Given the description of an element on the screen output the (x, y) to click on. 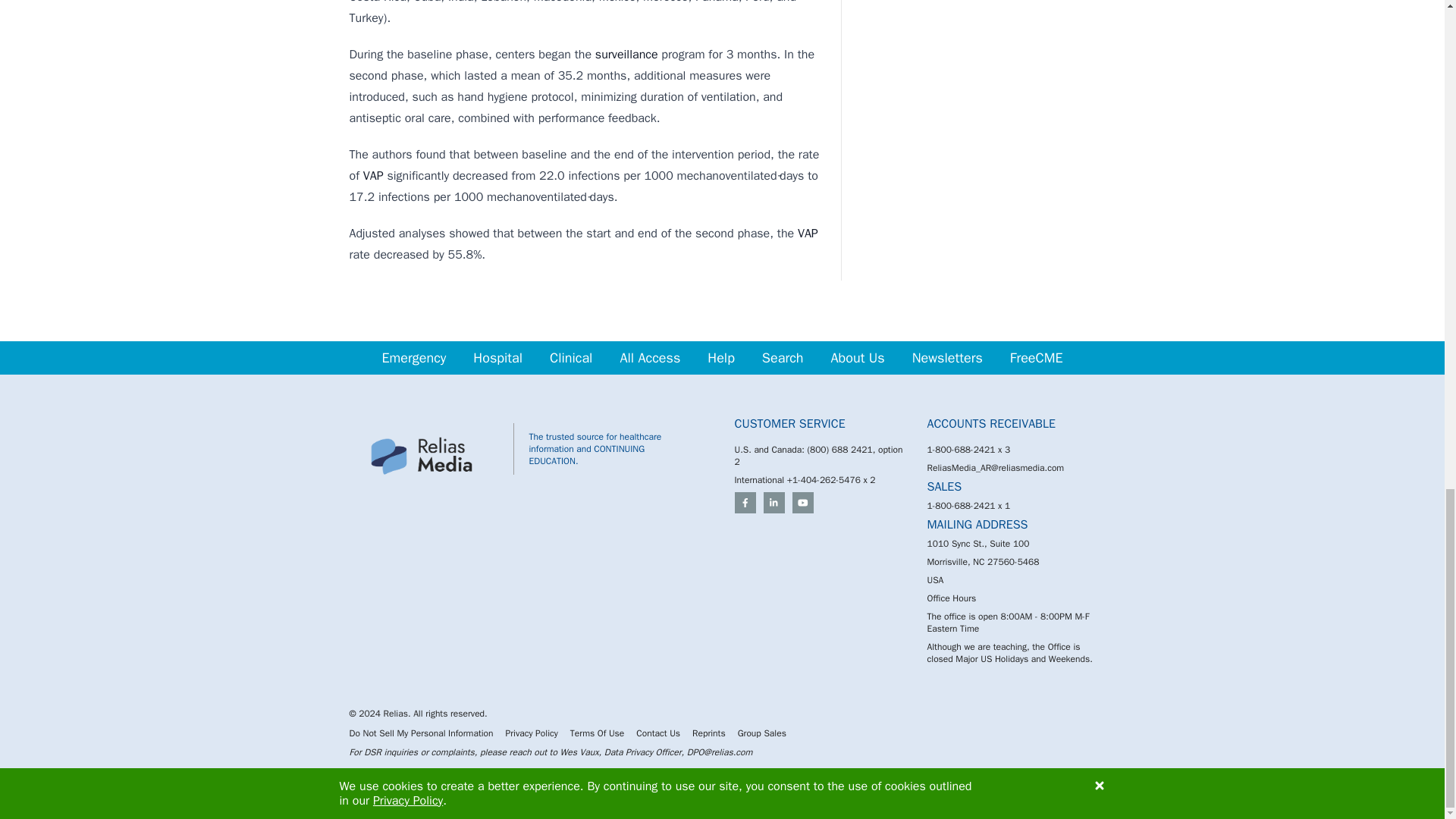
LinkedIn (773, 502)
Facebook (744, 502)
YouTube (802, 502)
